Given the description of an element on the screen output the (x, y) to click on. 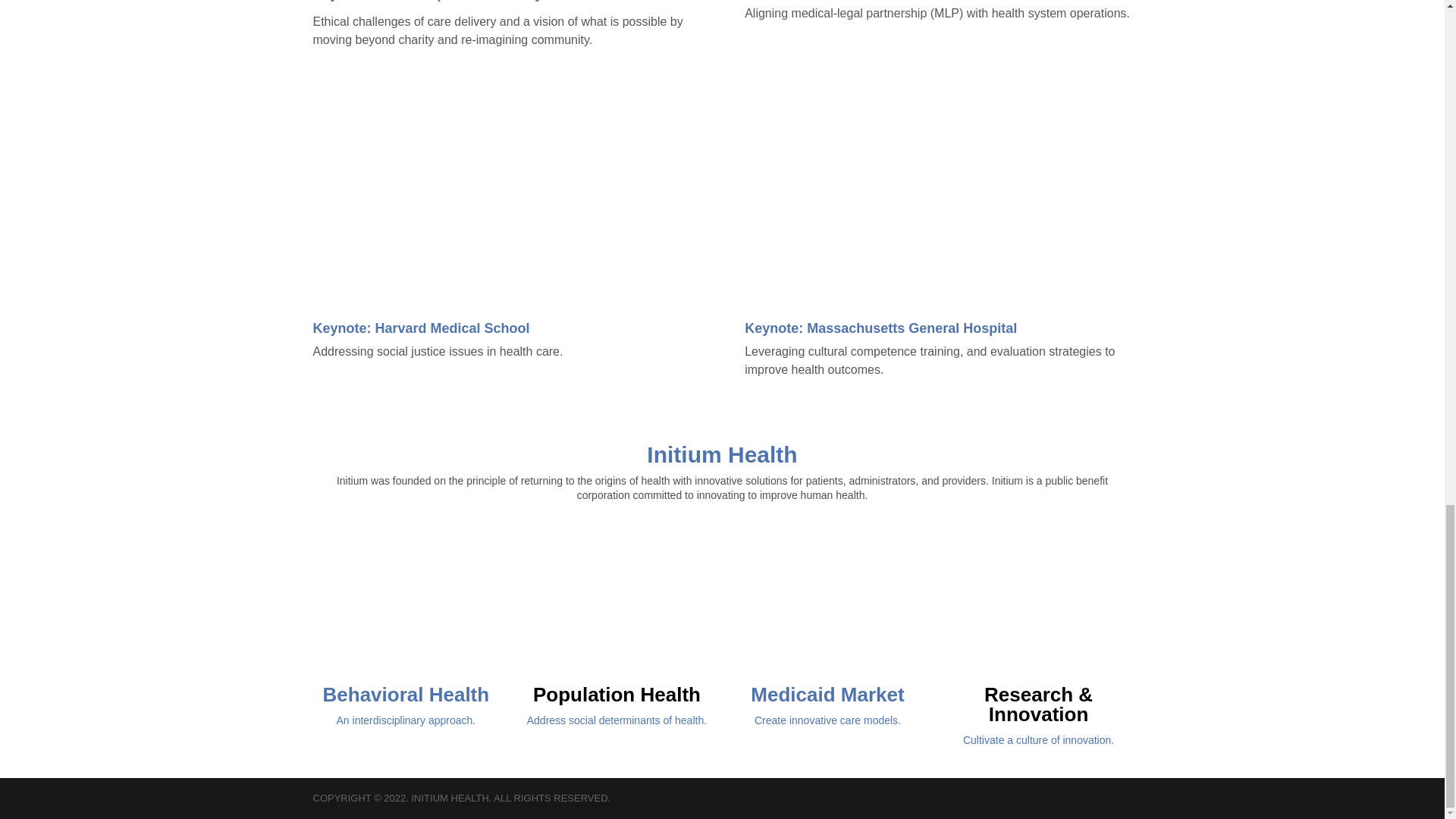
Population Health (616, 694)
Behavioral Health (406, 694)
GPS 2012 Joseph Betancourt (937, 190)
Medicaid Market (827, 694)
